Given the description of an element on the screen output the (x, y) to click on. 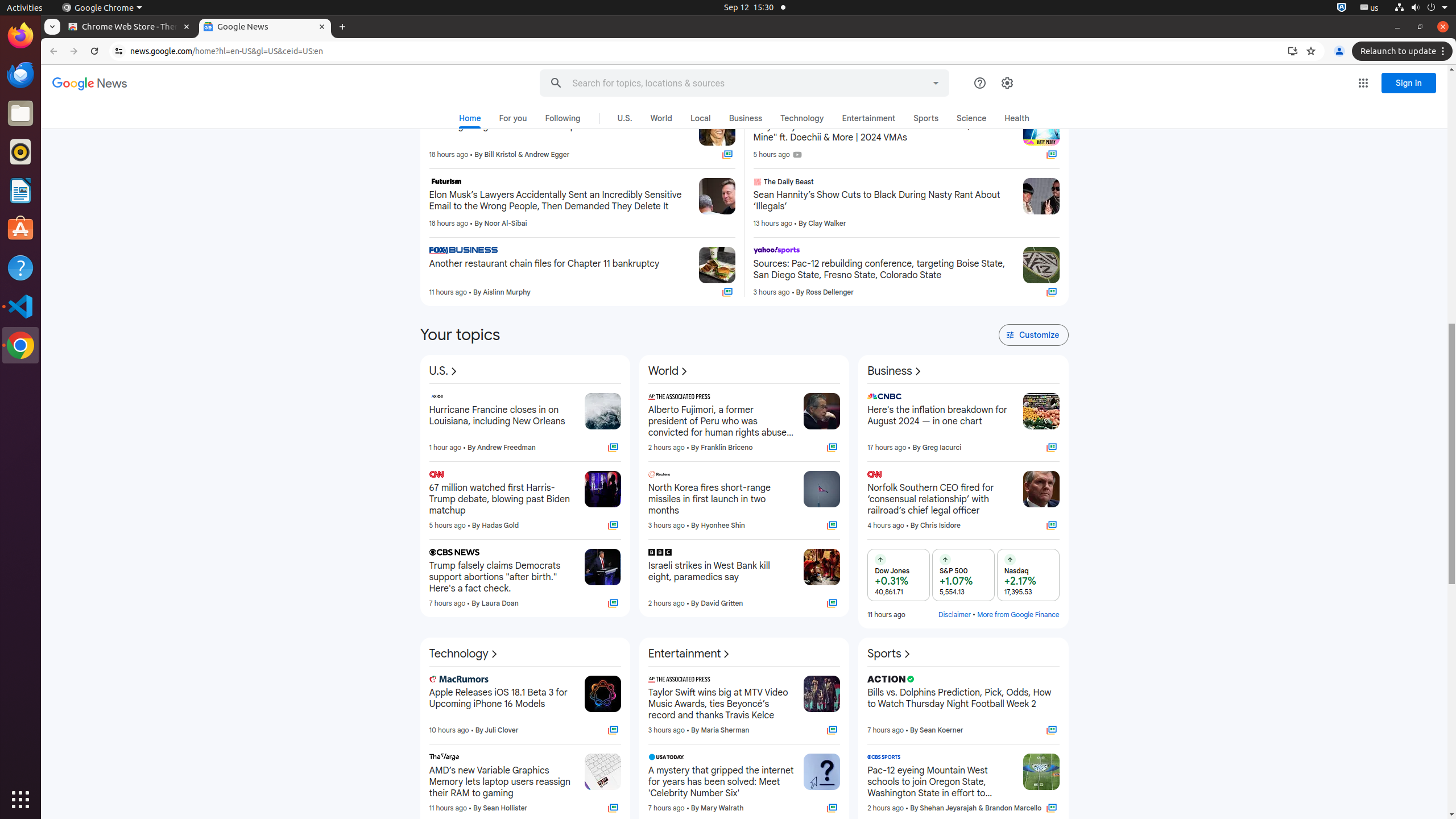
Firefox Web Browser Element type: push-button (20, 35)
More - Alberto Fujimori, a former president of Peru who was convicted for human rights abuses, dies at 86 Element type: push-button (791, 398)
More - Sean Hannity’s Show Cuts to Black During Nasty Rant About ‘Illegals’ Element type: push-button (1010, 183)
Sign in Element type: link (1041, 73)
Back Element type: push-button (51, 50)
